Given the description of an element on the screen output the (x, y) to click on. 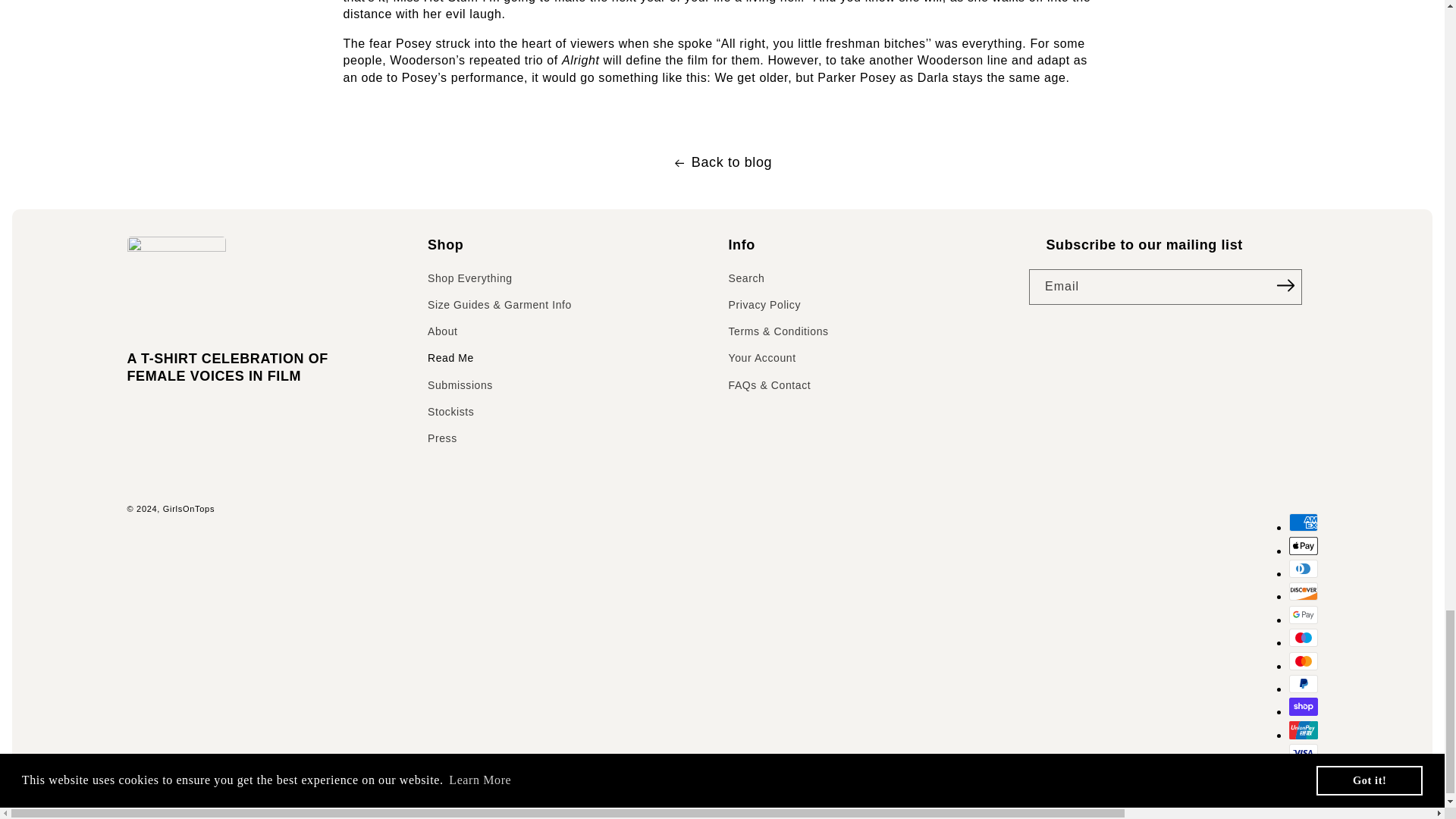
American Express (1302, 522)
PayPal (1302, 683)
Diners Club (1302, 568)
Shop Pay (1302, 706)
Apple Pay (1302, 546)
Union Pay (1302, 730)
Google Pay (1302, 615)
Visa (1302, 752)
Back to blog (722, 162)
Mastercard (1302, 660)
